Given the description of an element on the screen output the (x, y) to click on. 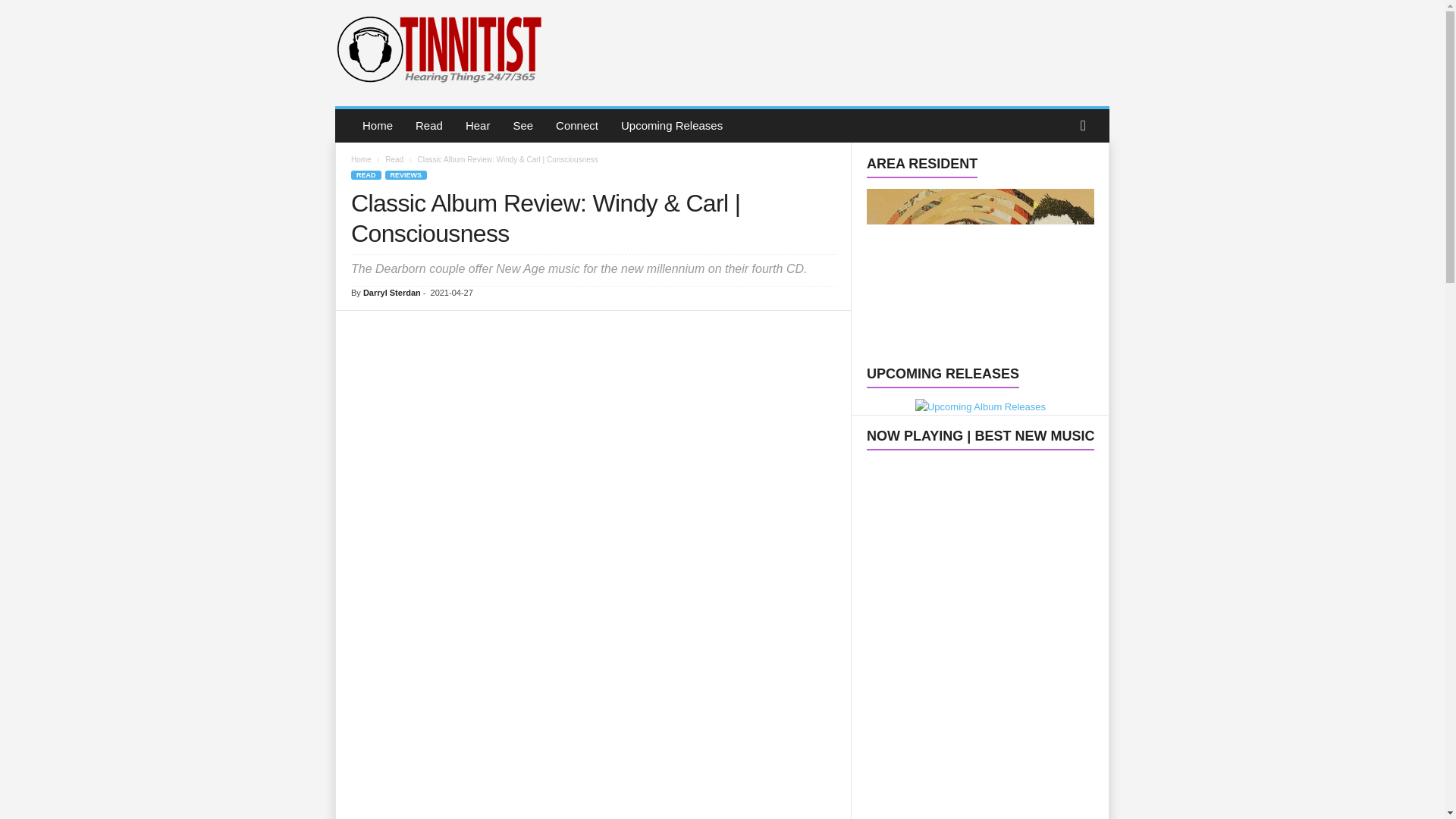
Read (429, 125)
Tinnitist (437, 49)
Home (377, 125)
Tinnitist (437, 48)
